Given the description of an element on the screen output the (x, y) to click on. 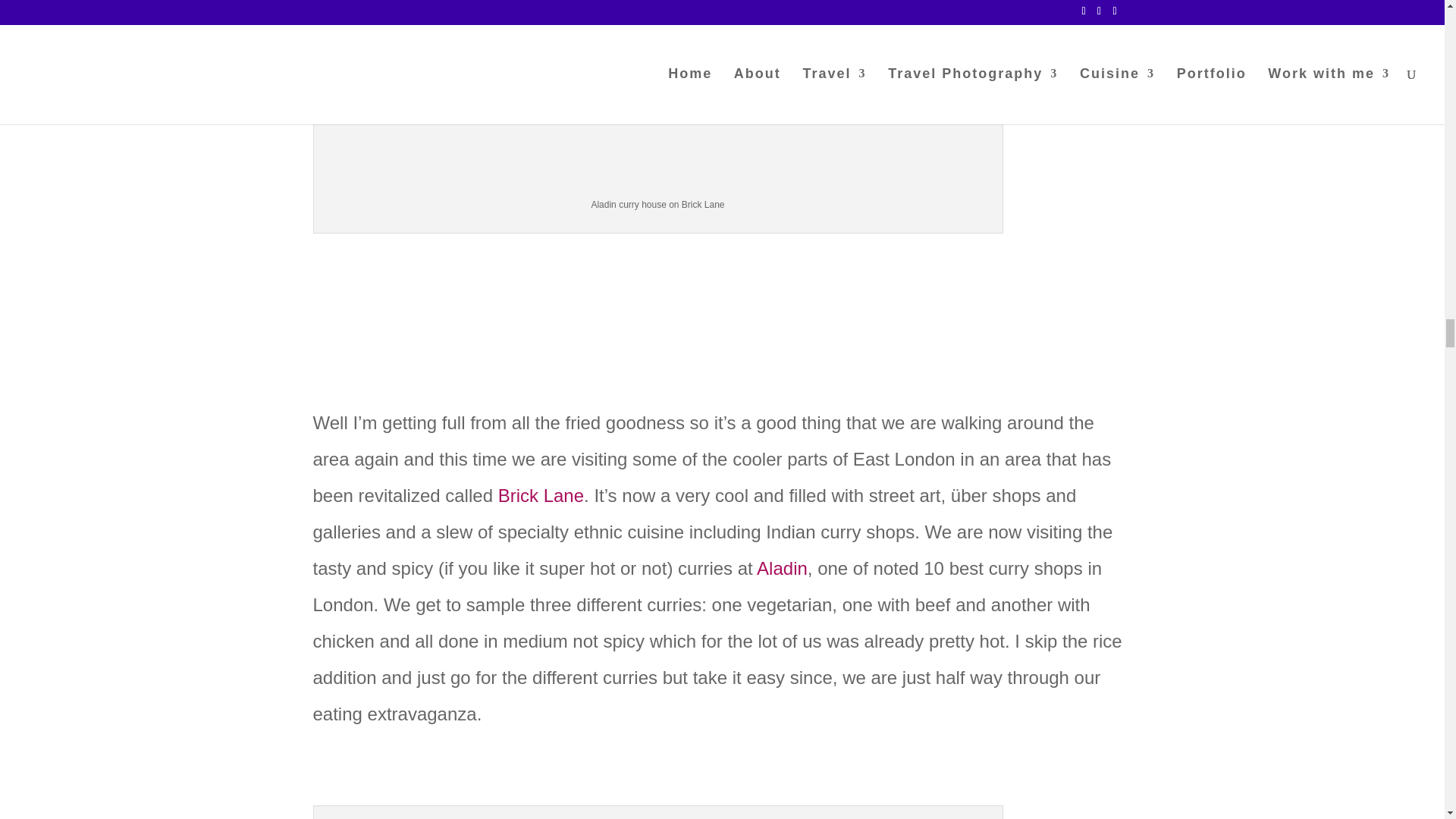
Eating London 21 (657, 92)
